Given the description of an element on the screen output the (x, y) to click on. 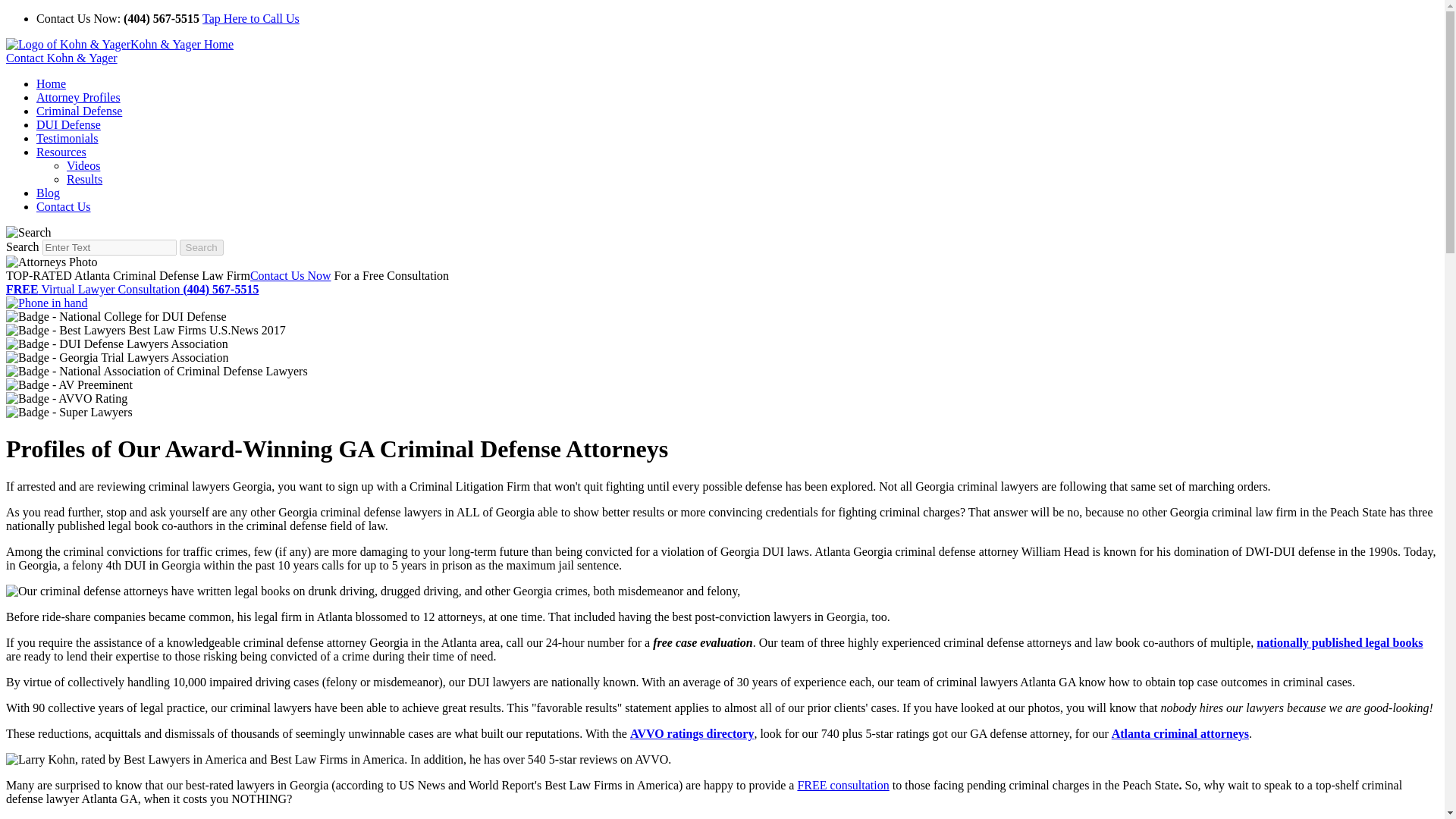
Back to Home (118, 43)
Contact Us Now (290, 275)
Testimonials (67, 137)
DUI Defense (68, 124)
Search (109, 247)
Results (83, 178)
Videos (83, 164)
Home (50, 83)
Attorney Profiles (78, 97)
Contact Us (63, 205)
